Given the description of an element on the screen output the (x, y) to click on. 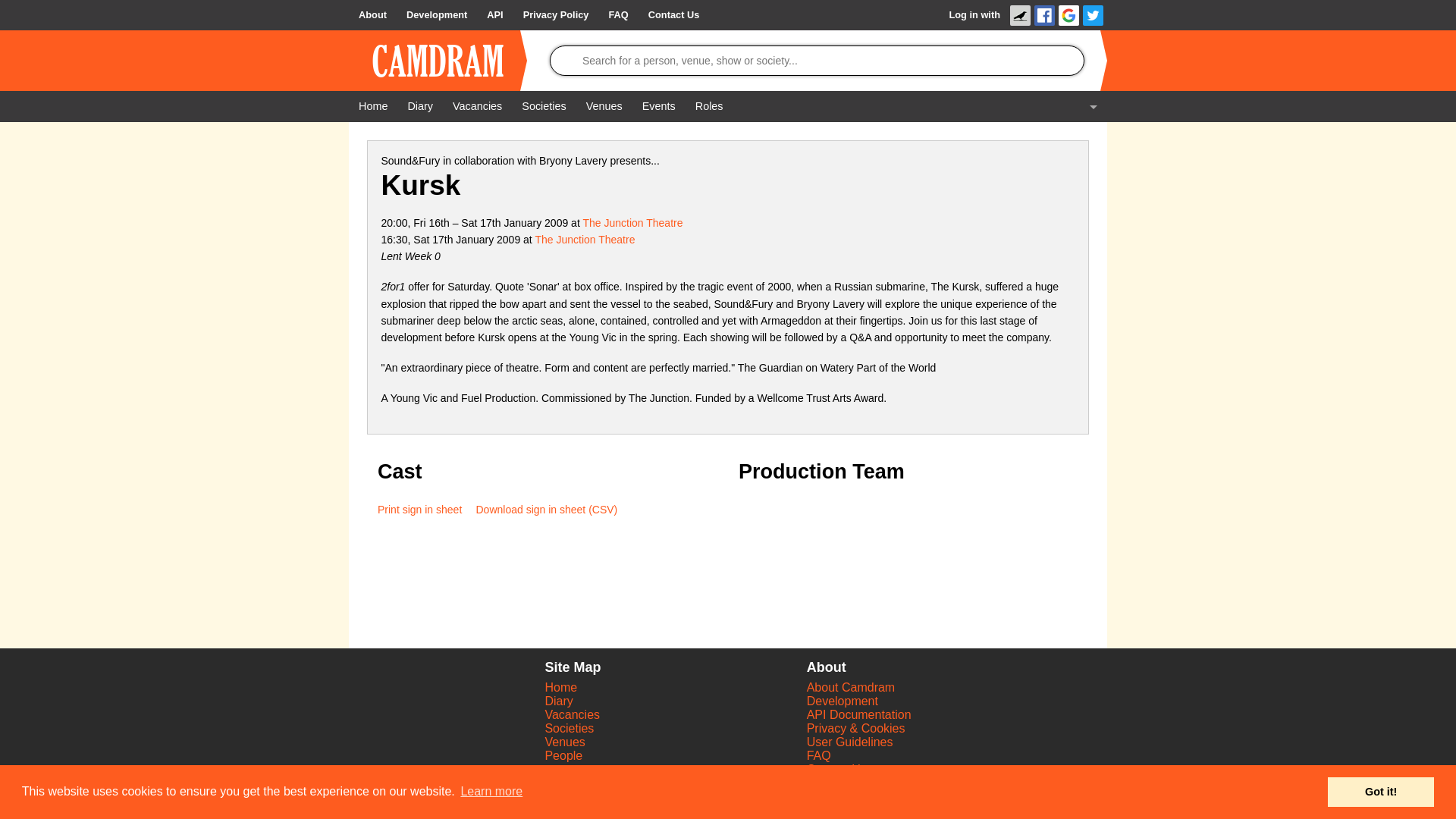
About (372, 15)
FAQ (617, 15)
The Junction Theatre (584, 239)
Venues (564, 741)
Search (17, 7)
Venues (603, 105)
Camdram (437, 60)
Learn more (491, 791)
Events (658, 105)
Societies (569, 727)
Societies (543, 105)
Twitter (1093, 14)
Home (560, 686)
Facebook (1043, 14)
Diary (558, 700)
